Given the description of an element on the screen output the (x, y) to click on. 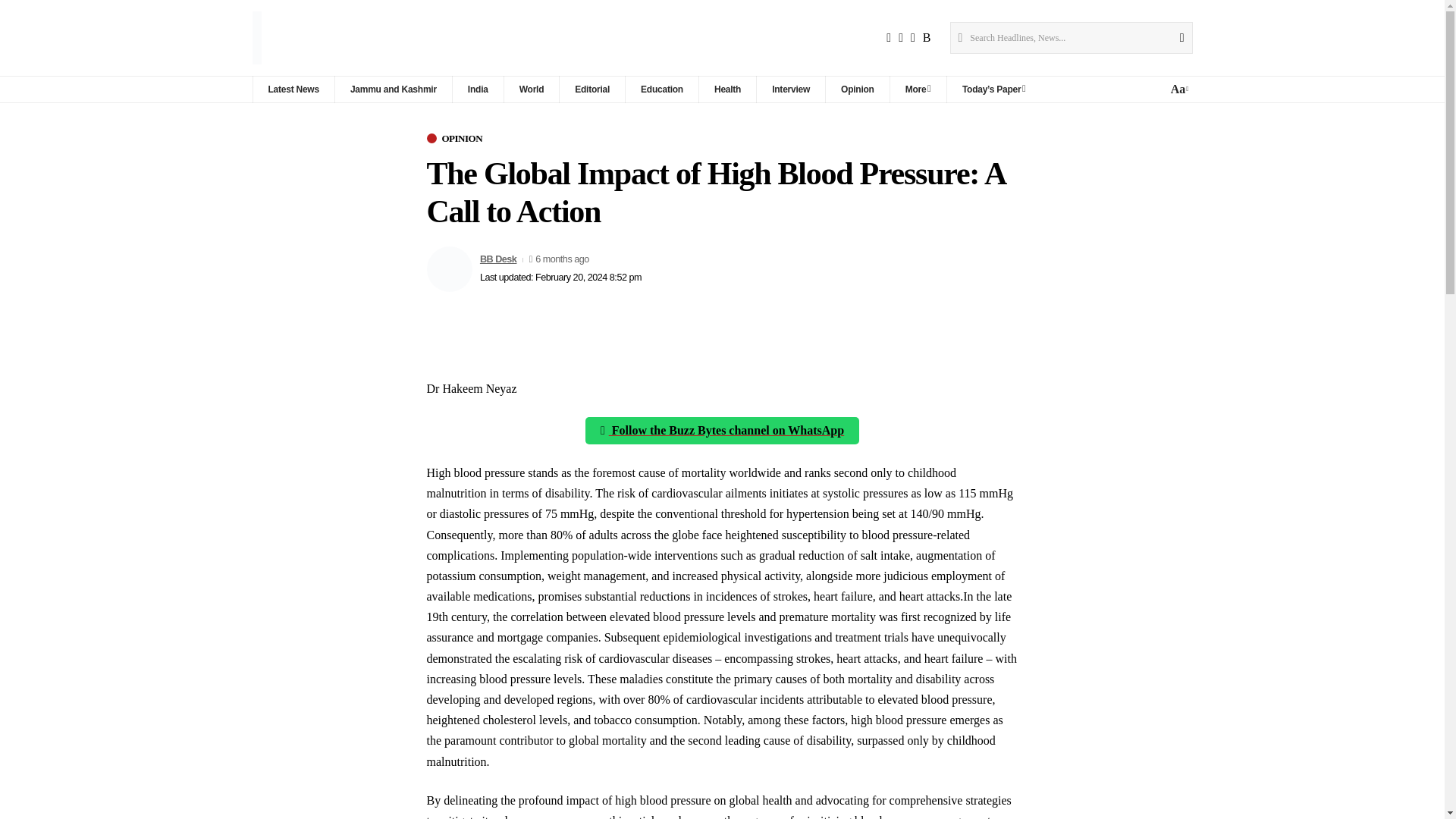
Latest News (292, 89)
Opinion (1178, 88)
More (857, 89)
Interview (917, 89)
World (790, 89)
Jammu and Kashmir (531, 89)
India (392, 89)
Editorial (477, 89)
Health (591, 89)
